Given the description of an element on the screen output the (x, y) to click on. 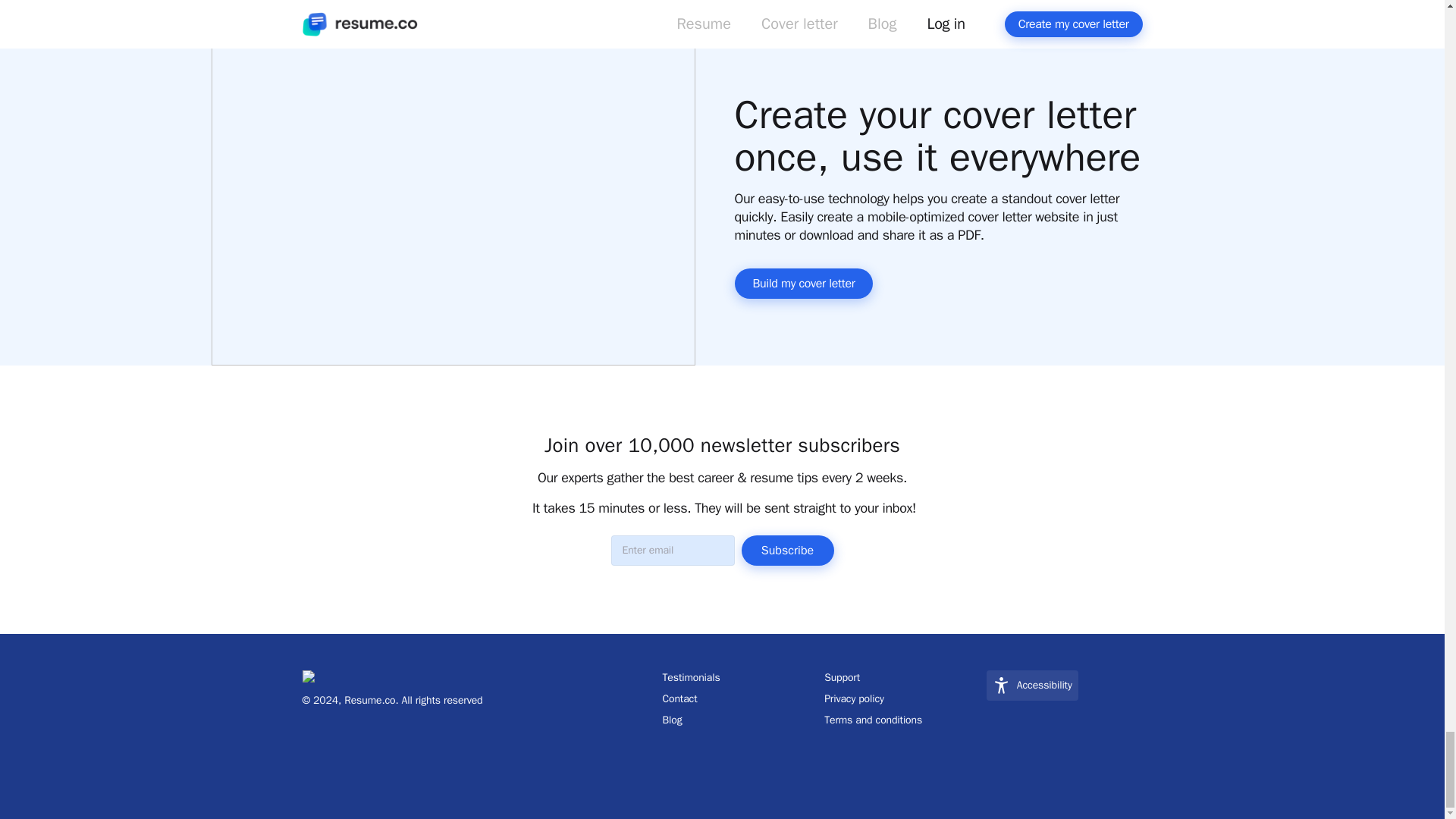
Testimonials (740, 677)
Privacy policy (901, 698)
Accessibility (1032, 685)
Support (901, 677)
Blog (740, 720)
Build my cover letter (802, 283)
Terms and conditions (901, 720)
Subscribe (787, 550)
Contact (740, 698)
